Given the description of an element on the screen output the (x, y) to click on. 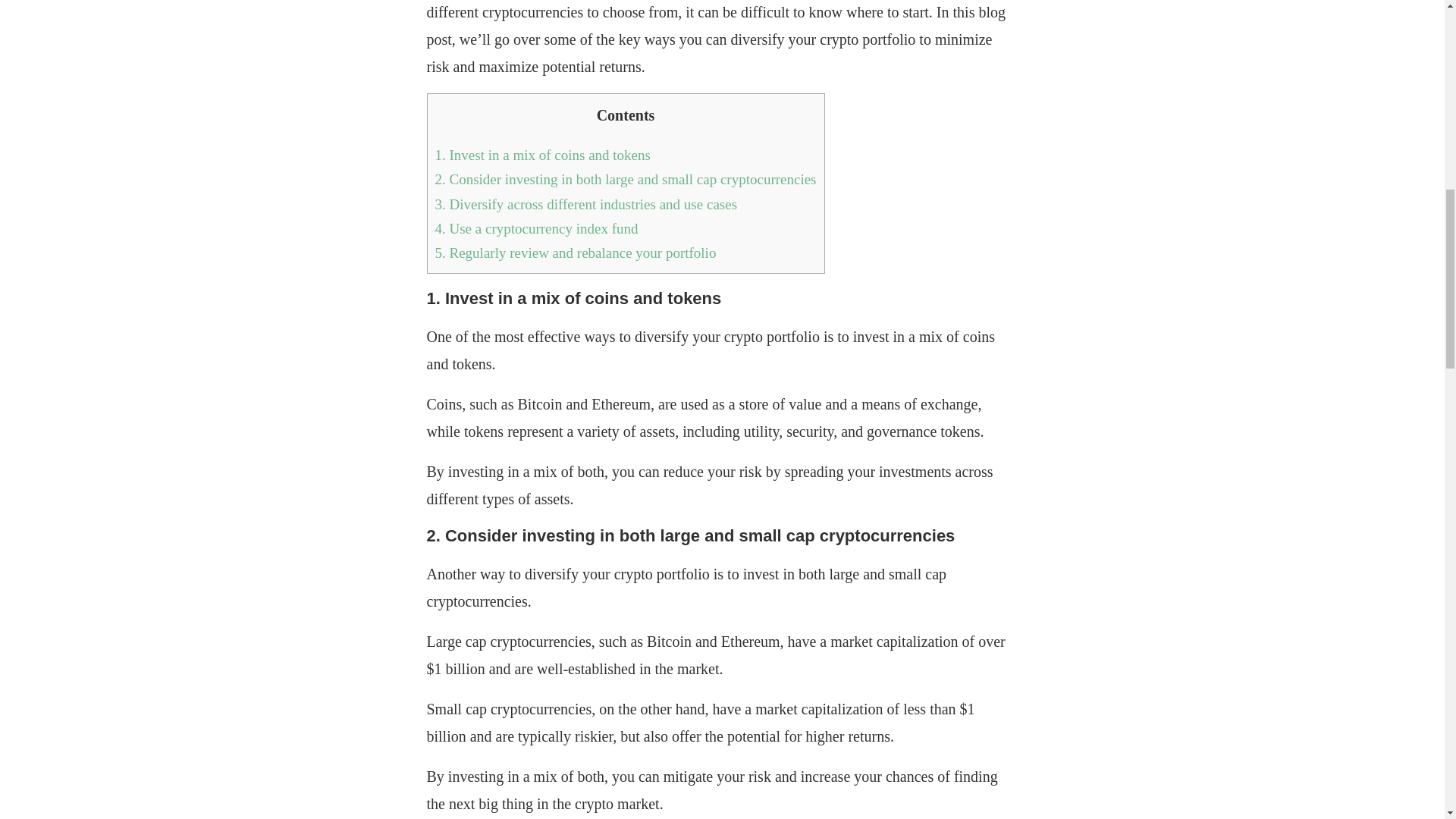
4. Use a cryptocurrency index fund (537, 228)
5. Regularly review and rebalance your portfolio (575, 252)
3. Diversify across different industries and use cases (586, 204)
1. Invest in a mix of coins and tokens (542, 154)
